Given the description of an element on the screen output the (x, y) to click on. 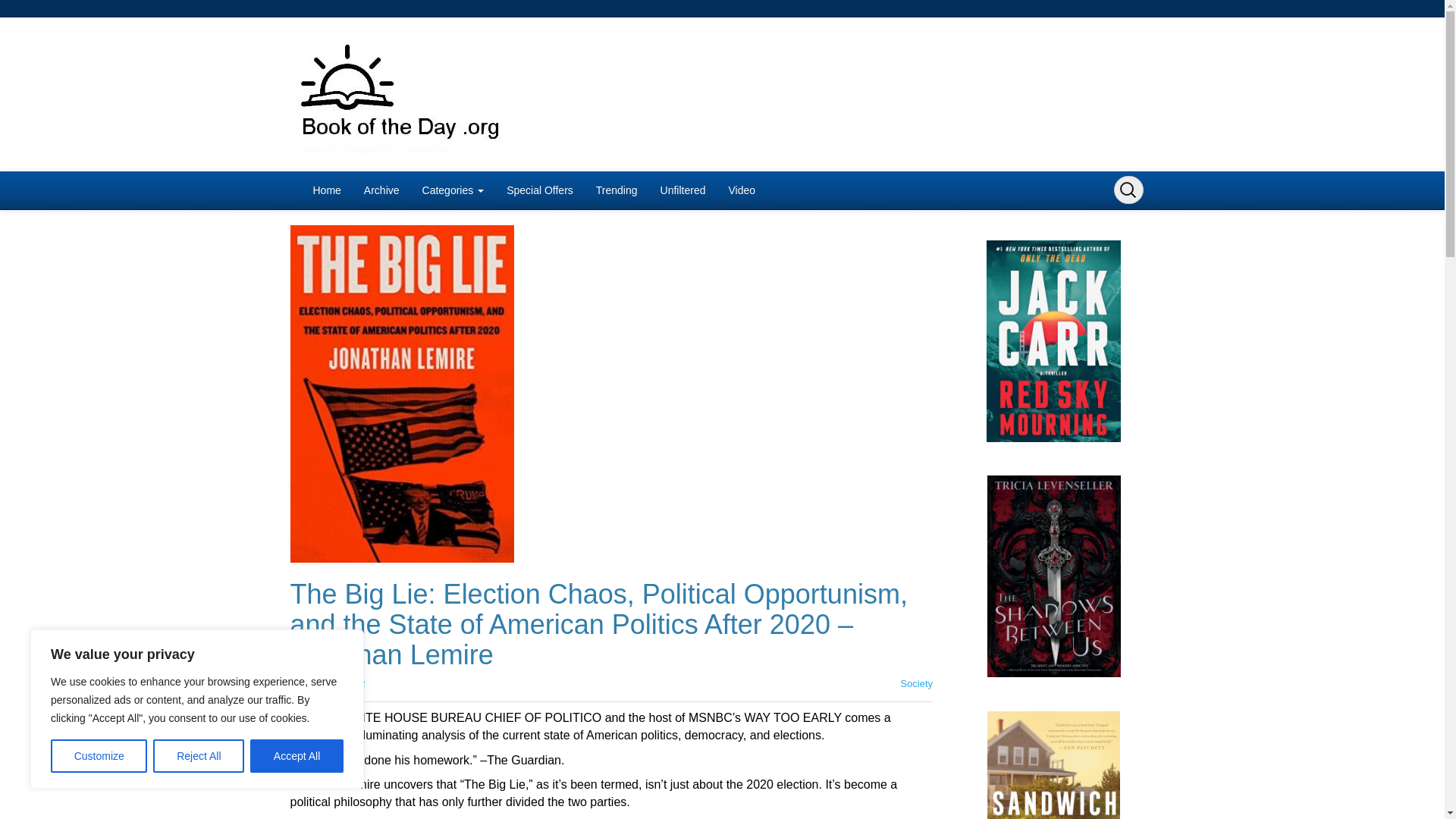
Customize (98, 756)
Categories (453, 190)
Archive (381, 190)
Reject All (198, 756)
12:05 am (331, 683)
Accept All (296, 756)
Home (326, 190)
